Given the description of an element on the screen output the (x, y) to click on. 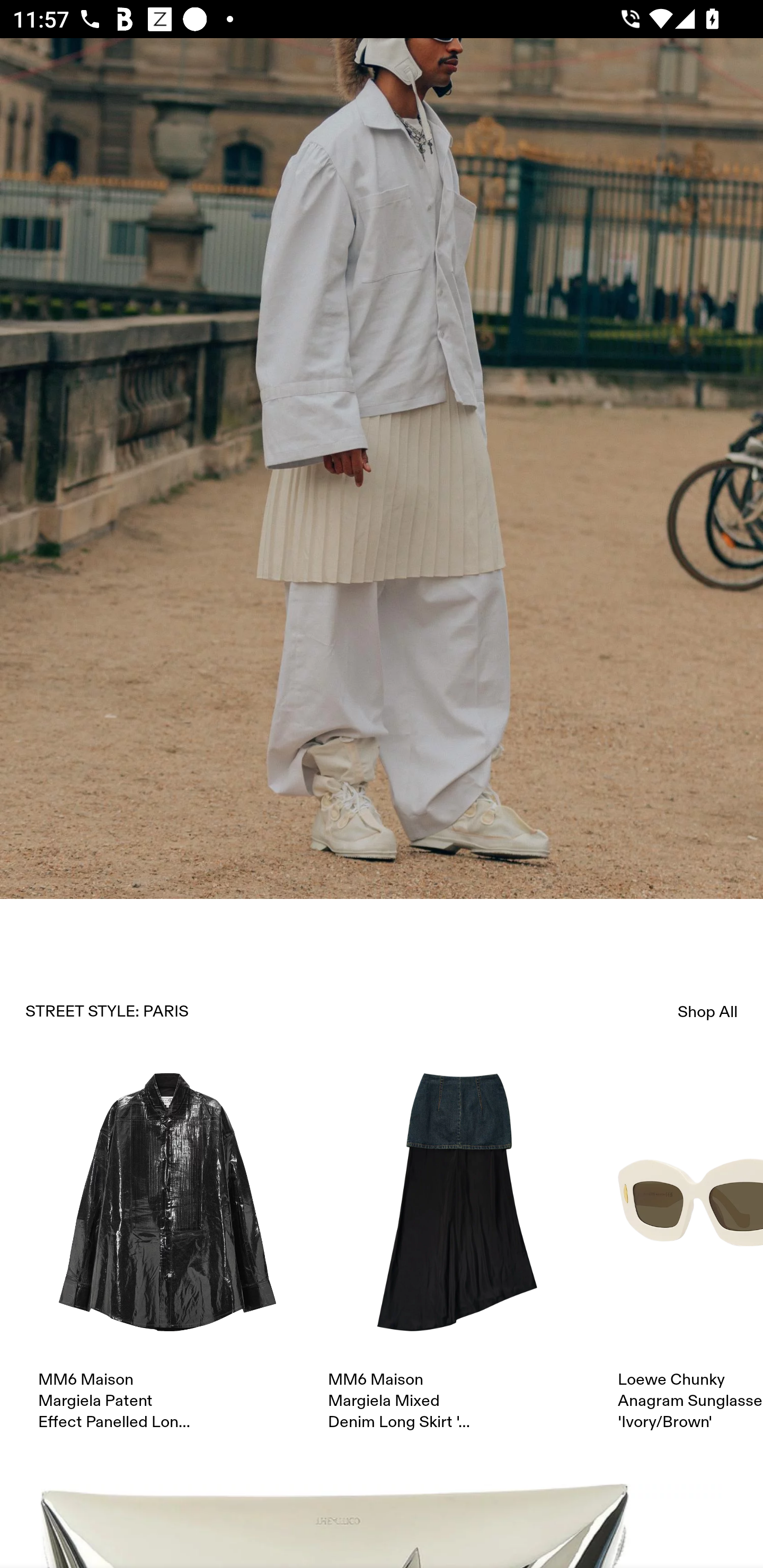
Shop All (707, 1011)
MM6 Maison Margiela Mixed Denim Long Skirt 'Blue' (456, 1252)
Loewe Chunky Anagram Sunglasses 'Ivory/Brown' (690, 1252)
